Given the description of an element on the screen output the (x, y) to click on. 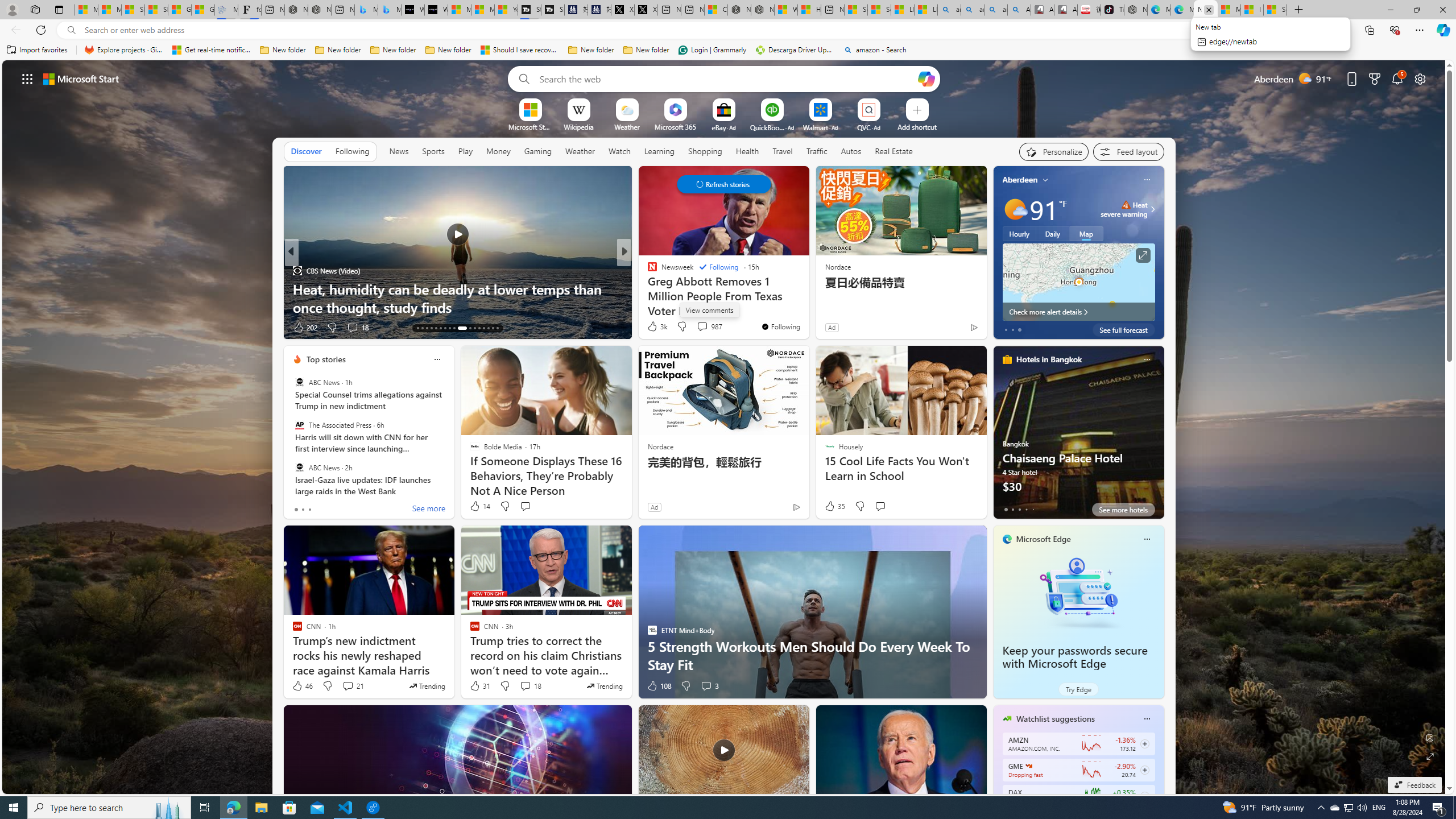
Following (718, 266)
Expand background (1430, 756)
14 Like (479, 505)
